Given the description of an element on the screen output the (x, y) to click on. 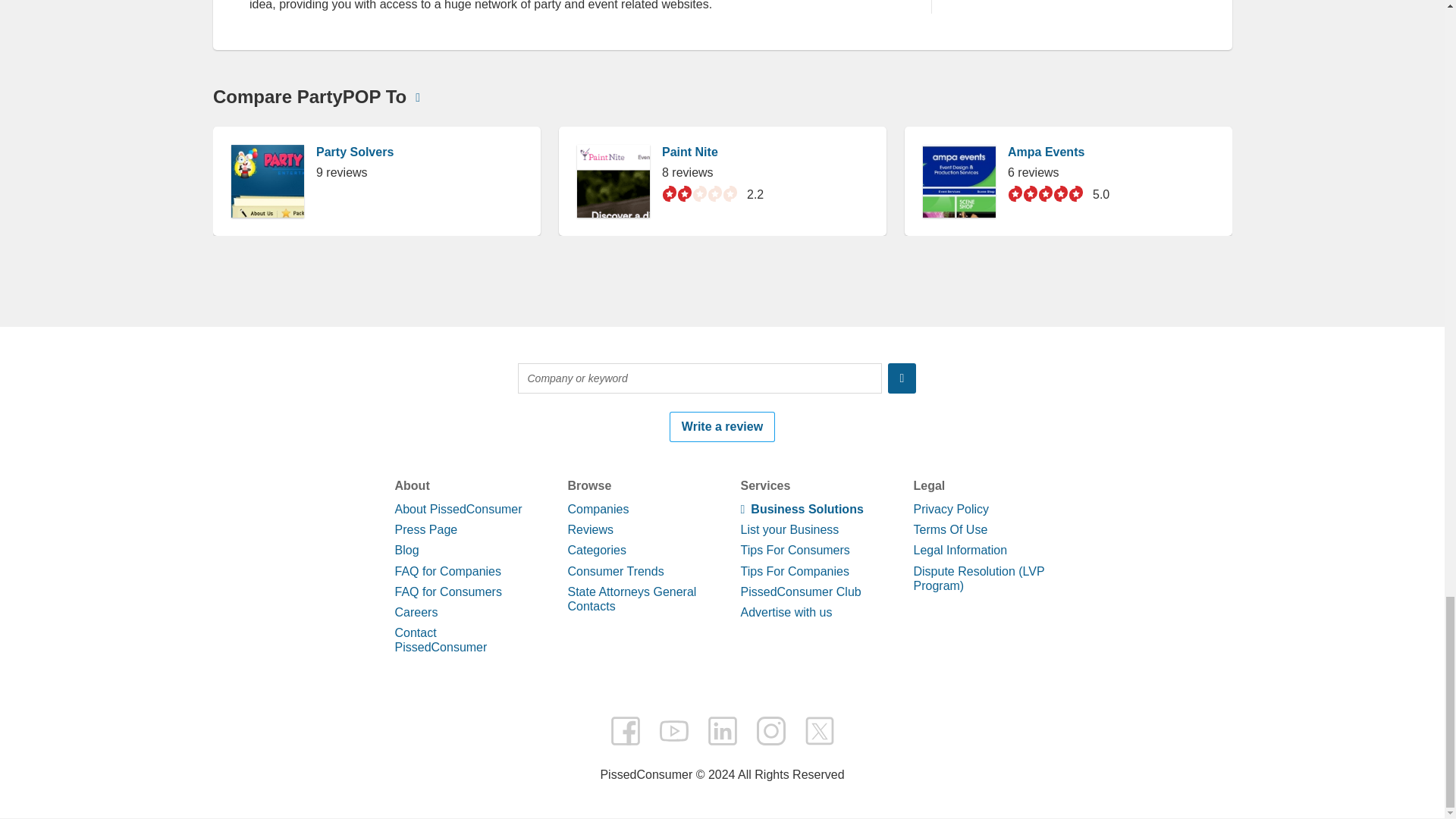
Ampa Events (1045, 734)
Party Solvers (354, 734)
Paint Nite (689, 734)
